Given the description of an element on the screen output the (x, y) to click on. 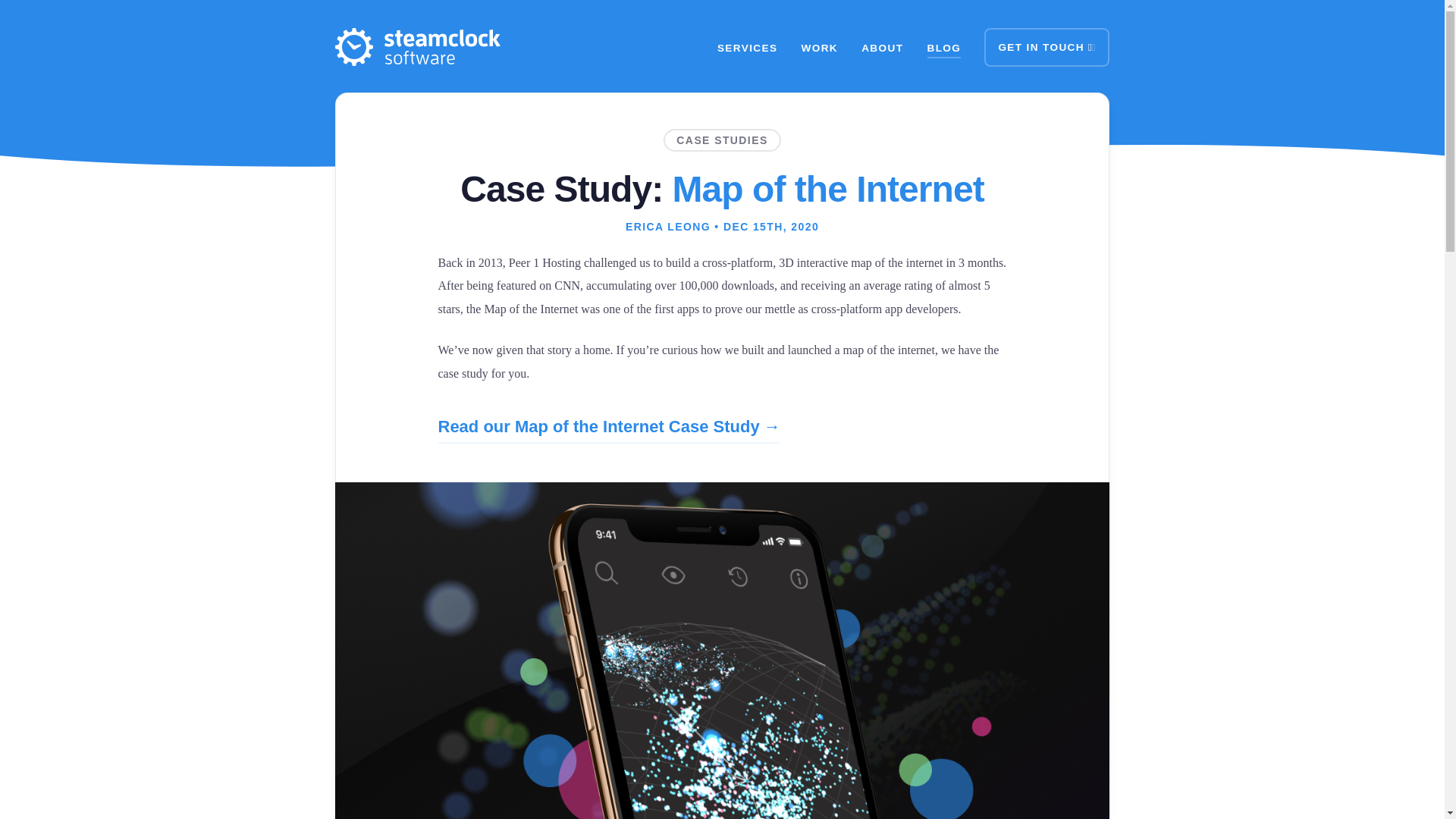
GET IN TOUCH (1046, 46)
WORK (820, 47)
Read our Map of the Internet Case Study (609, 427)
ABOUT (881, 47)
SERVICES (747, 47)
BLOG (943, 47)
